Given the description of an element on the screen output the (x, y) to click on. 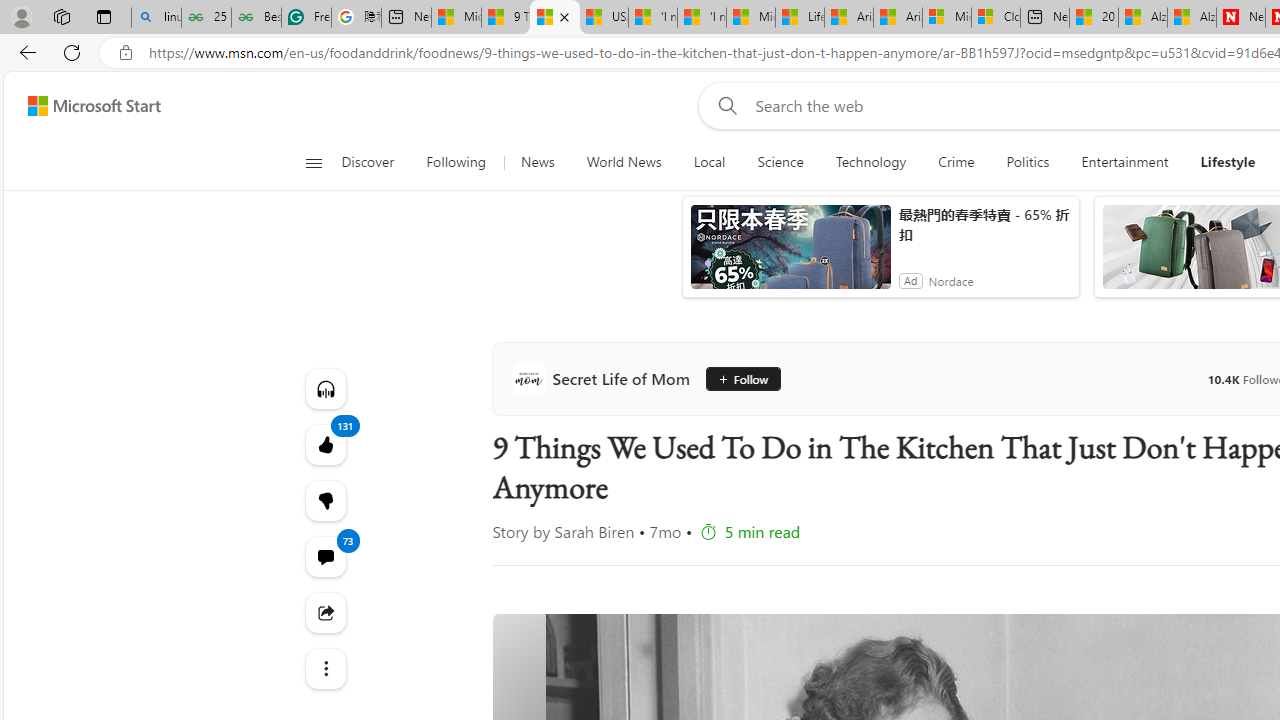
25 Basic Linux Commands For Beginners - GeeksforGeeks (206, 17)
linux basic - Search (155, 17)
131 (324, 500)
Best SSL Certificates Provider in India - GeeksforGeeks (256, 17)
Secret Life of Mom (604, 378)
Share this story (324, 612)
